Given the description of an element on the screen output the (x, y) to click on. 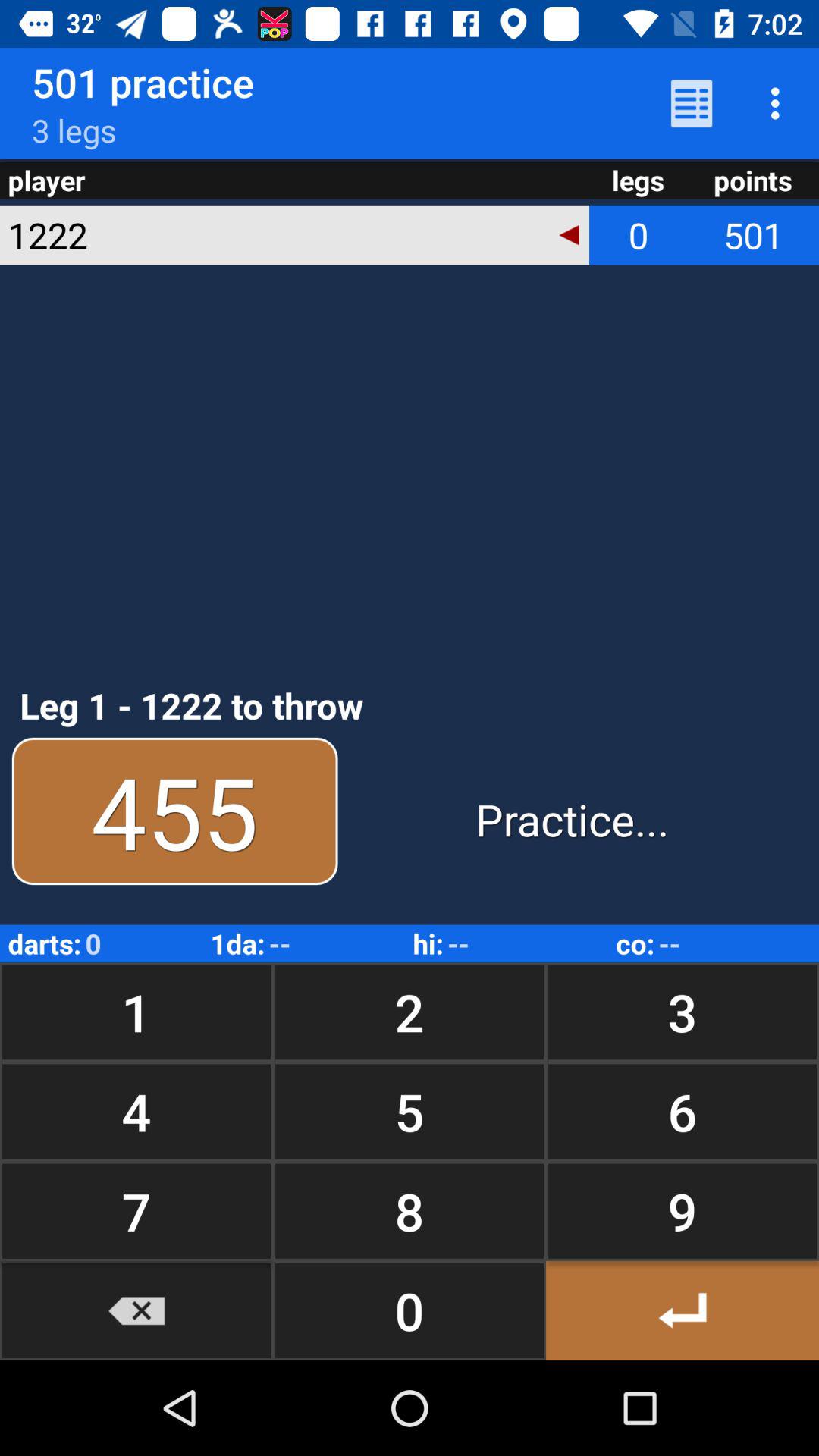
select the item next to 8 button (682, 1310)
